Given the description of an element on the screen output the (x, y) to click on. 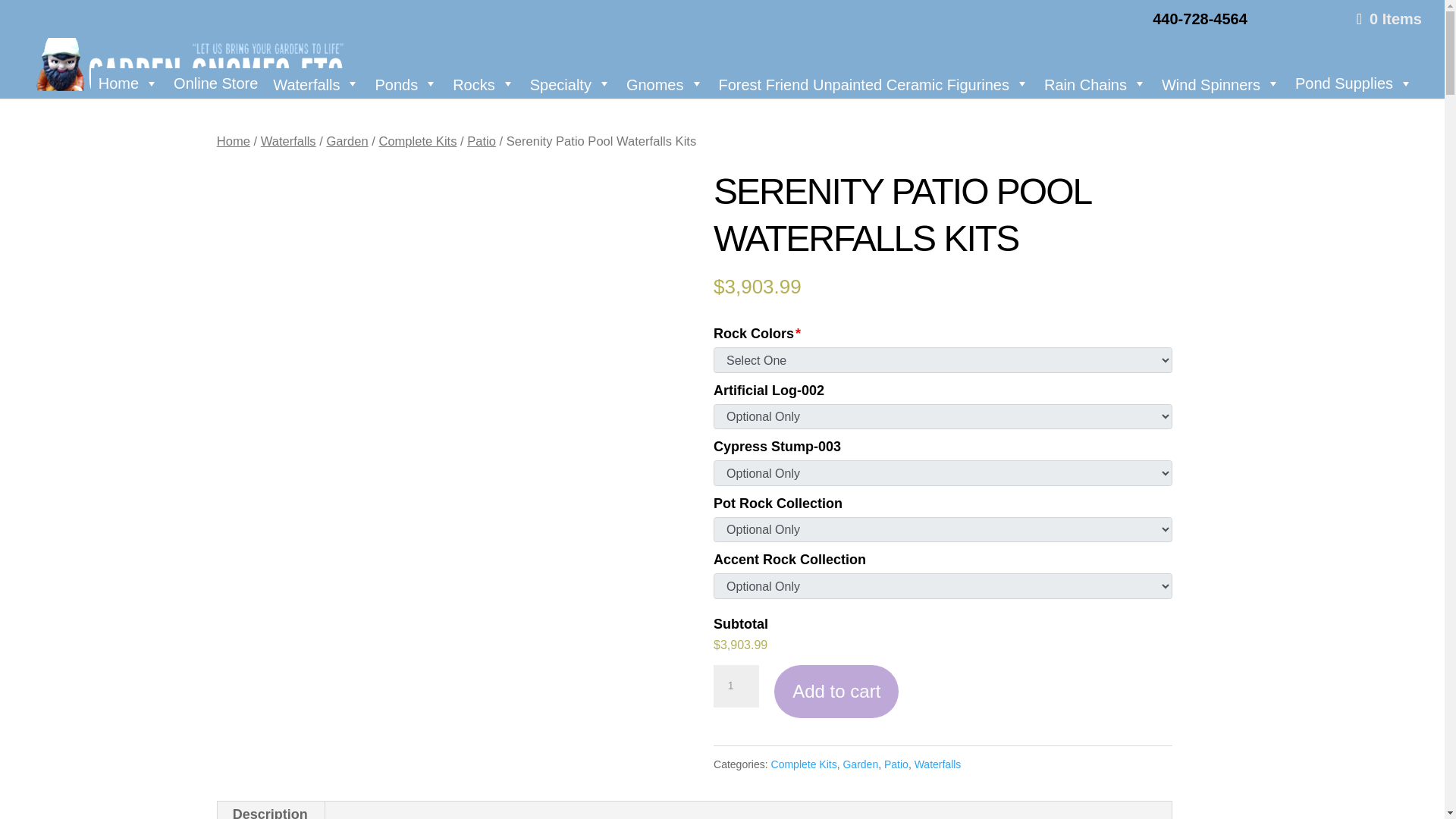
440-728-4564 (1200, 24)
0 Items (1387, 18)
Online Store (214, 82)
Home (127, 82)
1 (735, 686)
Waterfalls (315, 82)
